Given the description of an element on the screen output the (x, y) to click on. 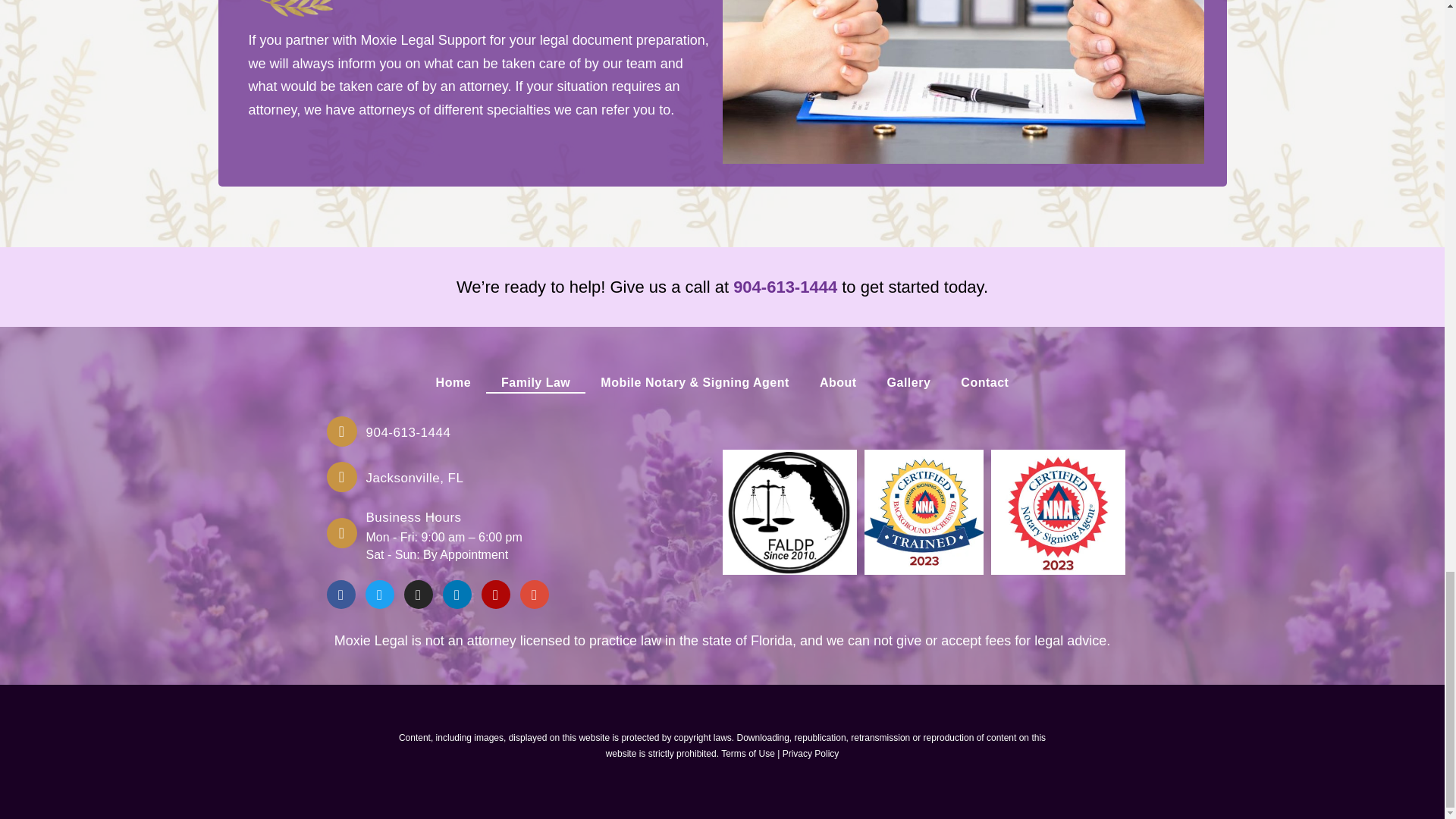
904-613-1444 (785, 286)
Family Law (535, 382)
Contact (983, 382)
Home (453, 382)
About (838, 382)
Gallery (909, 382)
